Given the description of an element on the screen output the (x, y) to click on. 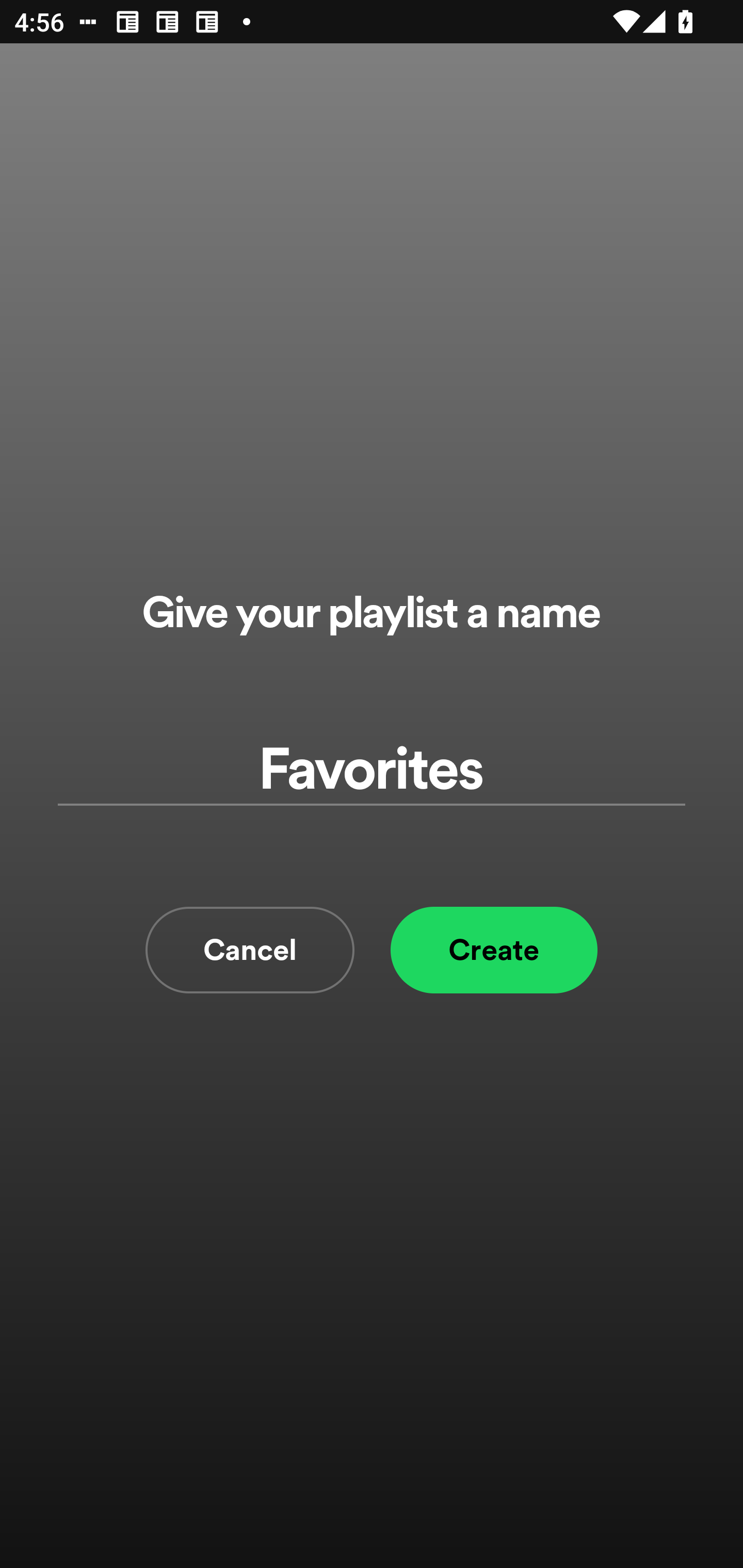
Favorites Add a playlist name (371, 769)
Cancel (249, 950)
Create (493, 950)
